Given the description of an element on the screen output the (x, y) to click on. 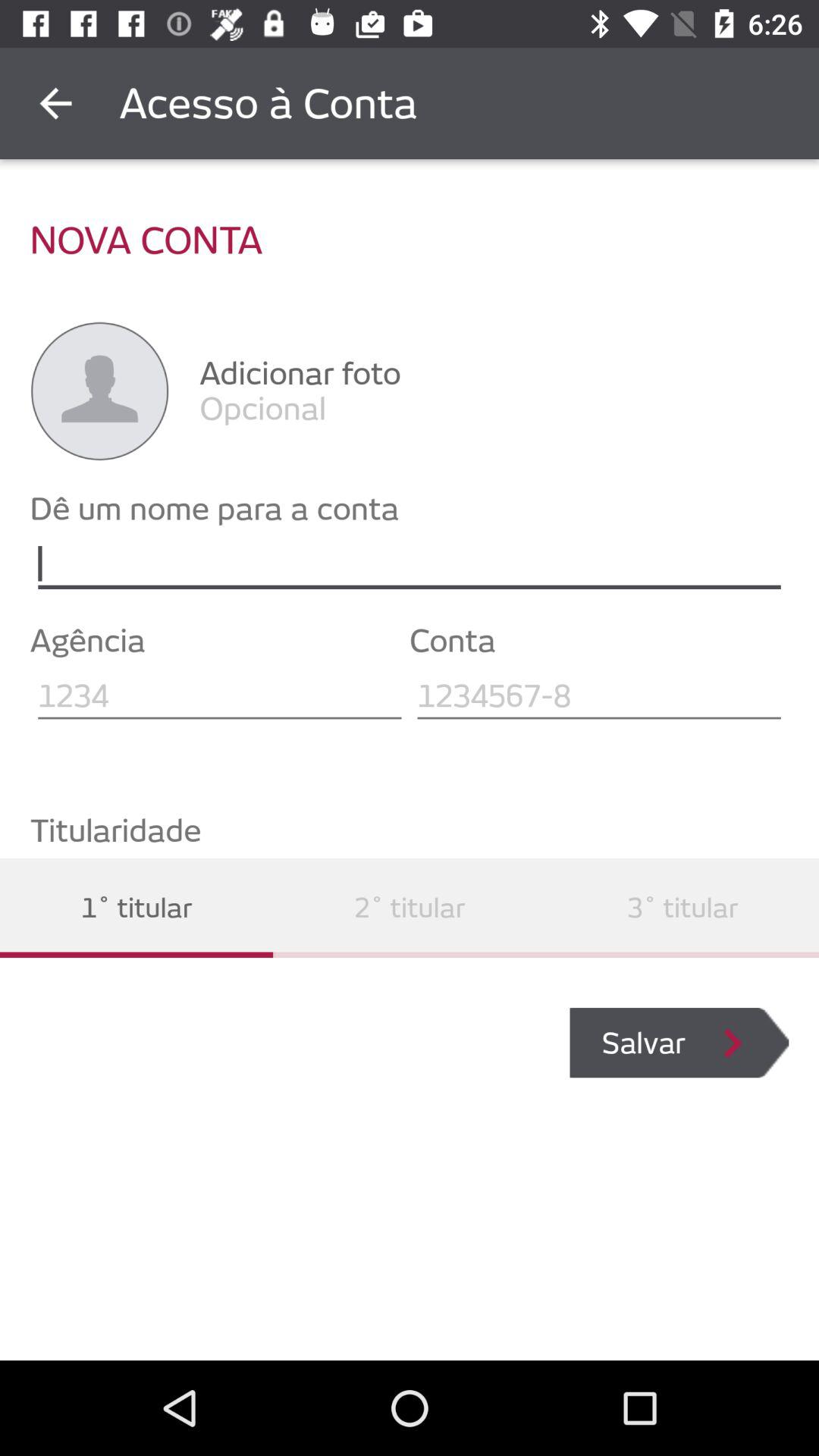
enter number (598, 696)
